Given the description of an element on the screen output the (x, y) to click on. 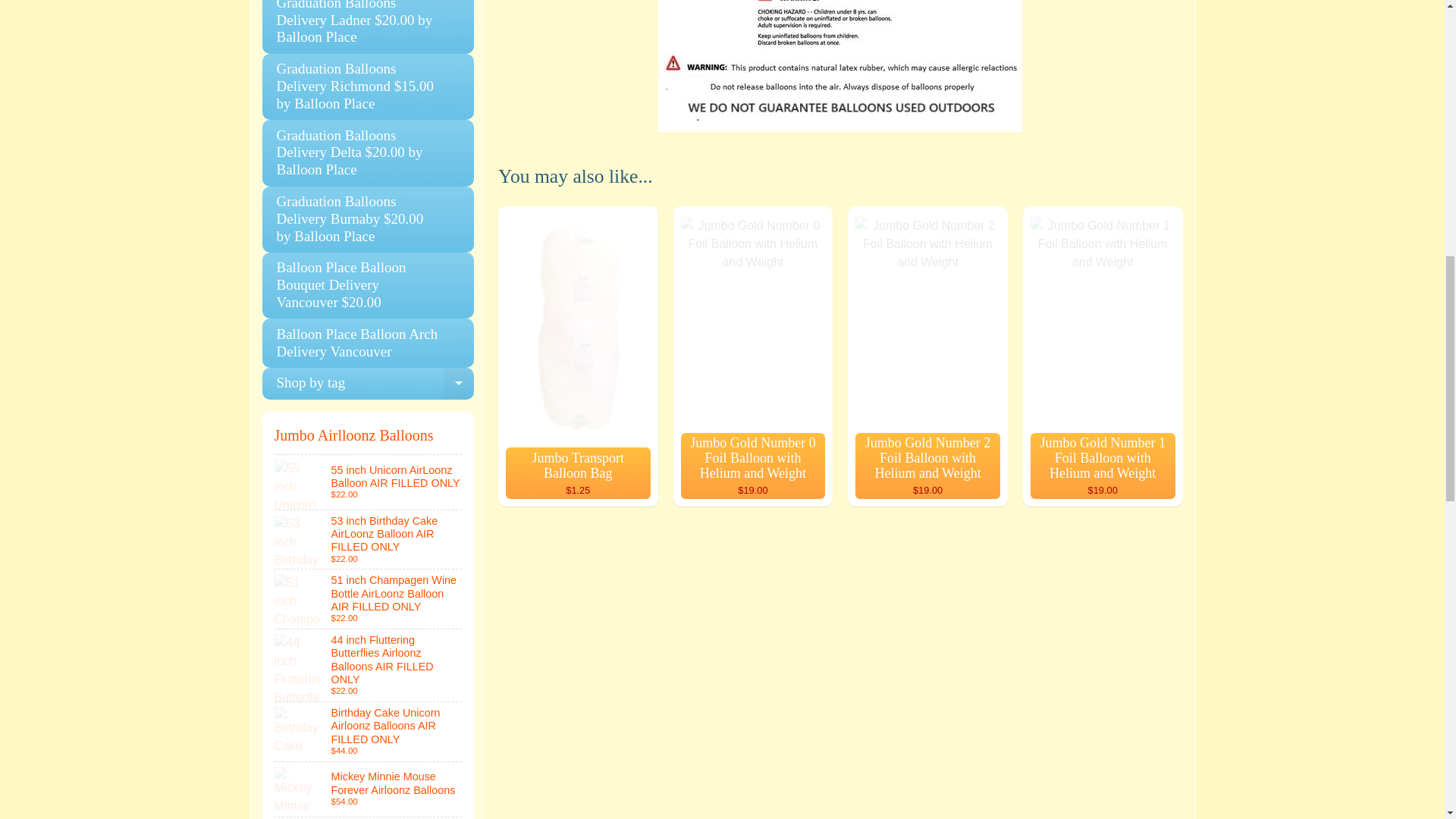
Birthday Cake Unicorn Airloonz Balloons AIR FILLED ONLY (369, 731)
Mickey Minnie Mouse Forever Airloonz Balloons (369, 789)
53 inch Birthday Cake AirLoonz Balloon AIR FILLED ONLY (369, 539)
55 inch Unicorn AirLoonz Balloon AIR FILLED ONLY (369, 482)
